Given the description of an element on the screen output the (x, y) to click on. 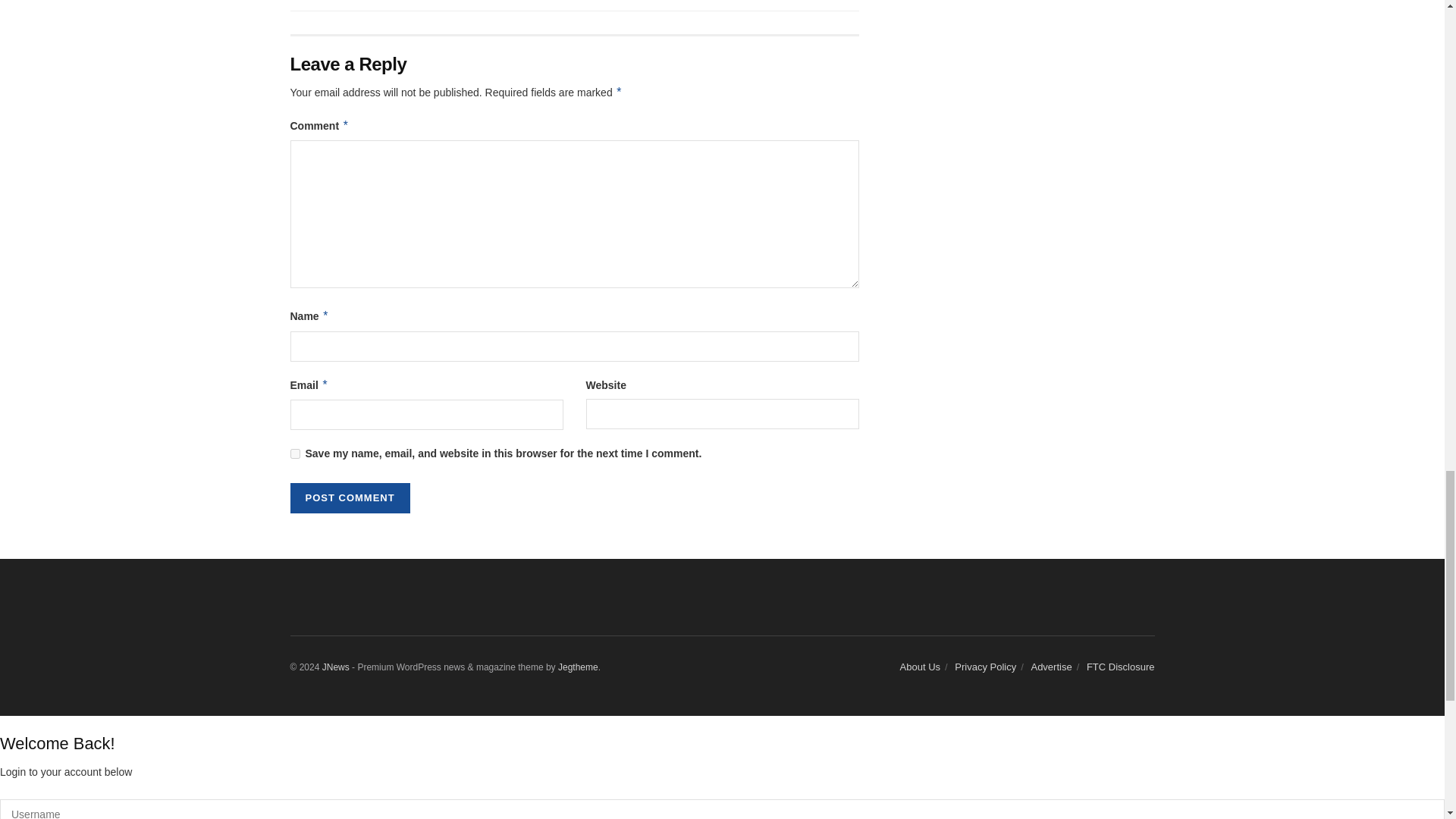
yes (294, 453)
Jegtheme (577, 666)
Post Comment (349, 498)
